Given the description of an element on the screen output the (x, y) to click on. 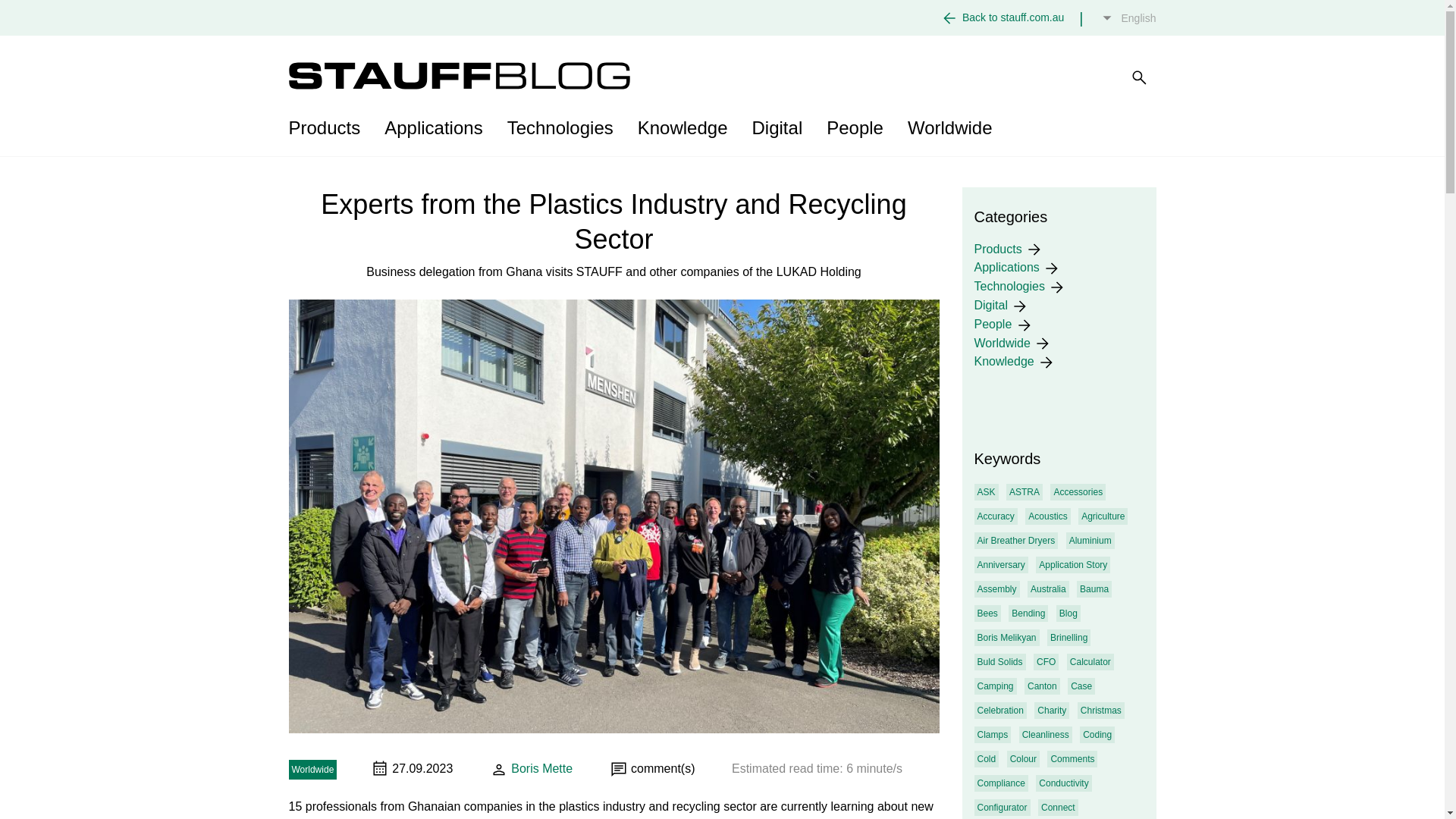
Knowledge (682, 127)
Worldwide (949, 127)
Digital (777, 127)
calendar (379, 767)
STAUFF Blog Logo (458, 75)
People (854, 127)
Boris Mette (530, 769)
person (498, 769)
search (1138, 76)
Back to stauff.com.au (1013, 17)
arrow-left (949, 18)
Products (330, 127)
Technologies (560, 127)
Applications (433, 127)
chat (618, 769)
